Given the description of an element on the screen output the (x, y) to click on. 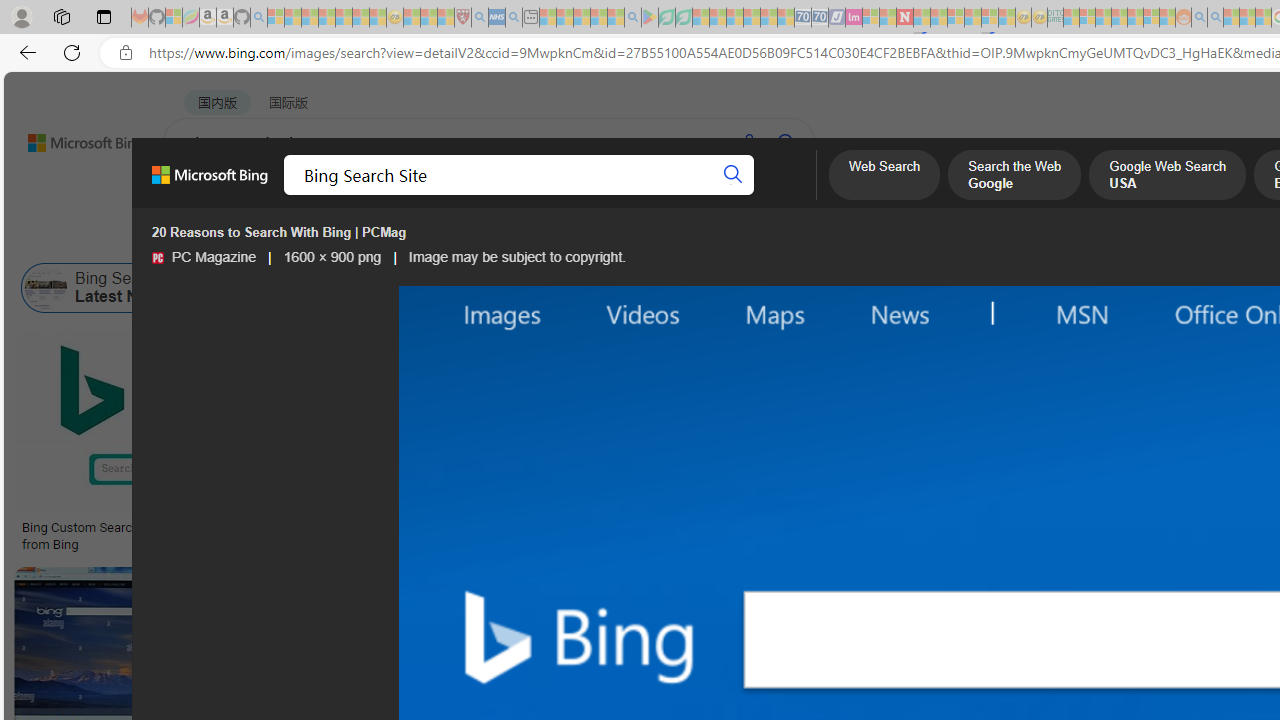
Image result for Bing Search Site (492, 421)
Color (305, 237)
Bing as Search Engine (301, 287)
WEB (201, 195)
Image size (221, 237)
ACADEMIC (635, 195)
MORE (793, 195)
Bing Home Screen (689, 287)
Bing Search Latest News (105, 287)
